Given the description of an element on the screen output the (x, y) to click on. 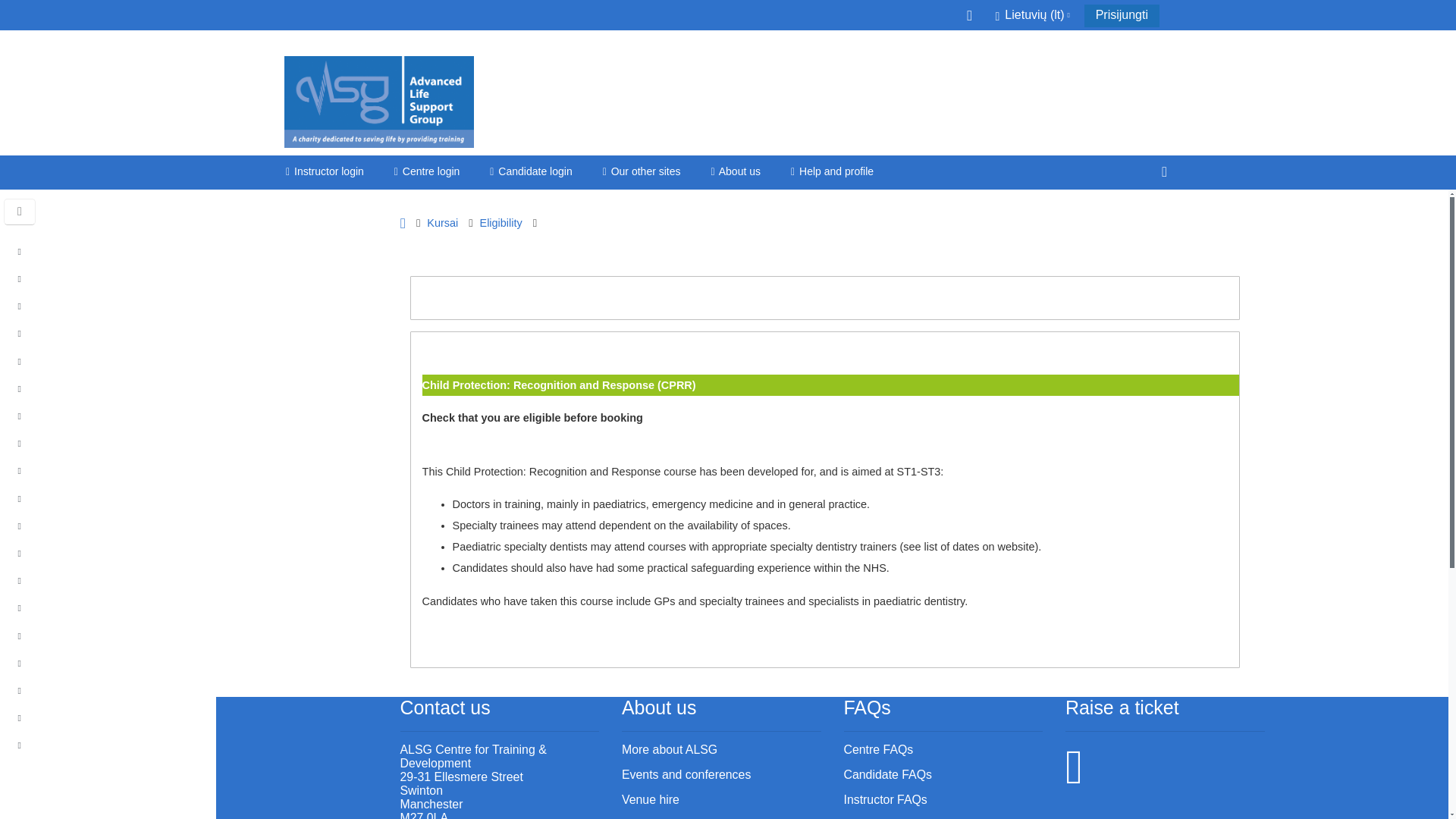
Sutraukti (22, 418)
Sutraukti (19, 417)
Sutraukti (19, 307)
Sutraukti (22, 472)
Sutraukti (19, 472)
Sutraukti (22, 636)
Sutraukti (22, 252)
Sutraukti (19, 444)
Sutraukti (19, 280)
Sutraukti (22, 308)
Sutraukti (19, 363)
Sutraukti (22, 582)
Sutraukti (22, 554)
Sutraukti (22, 499)
Sutraukti (19, 390)
